Given the description of an element on the screen output the (x, y) to click on. 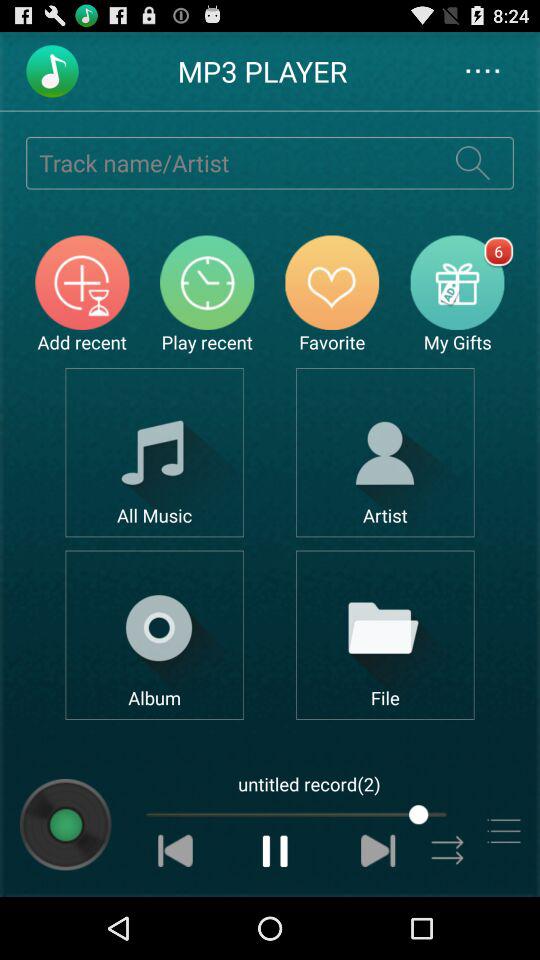
pause music (276, 850)
